Given the description of an element on the screen output the (x, y) to click on. 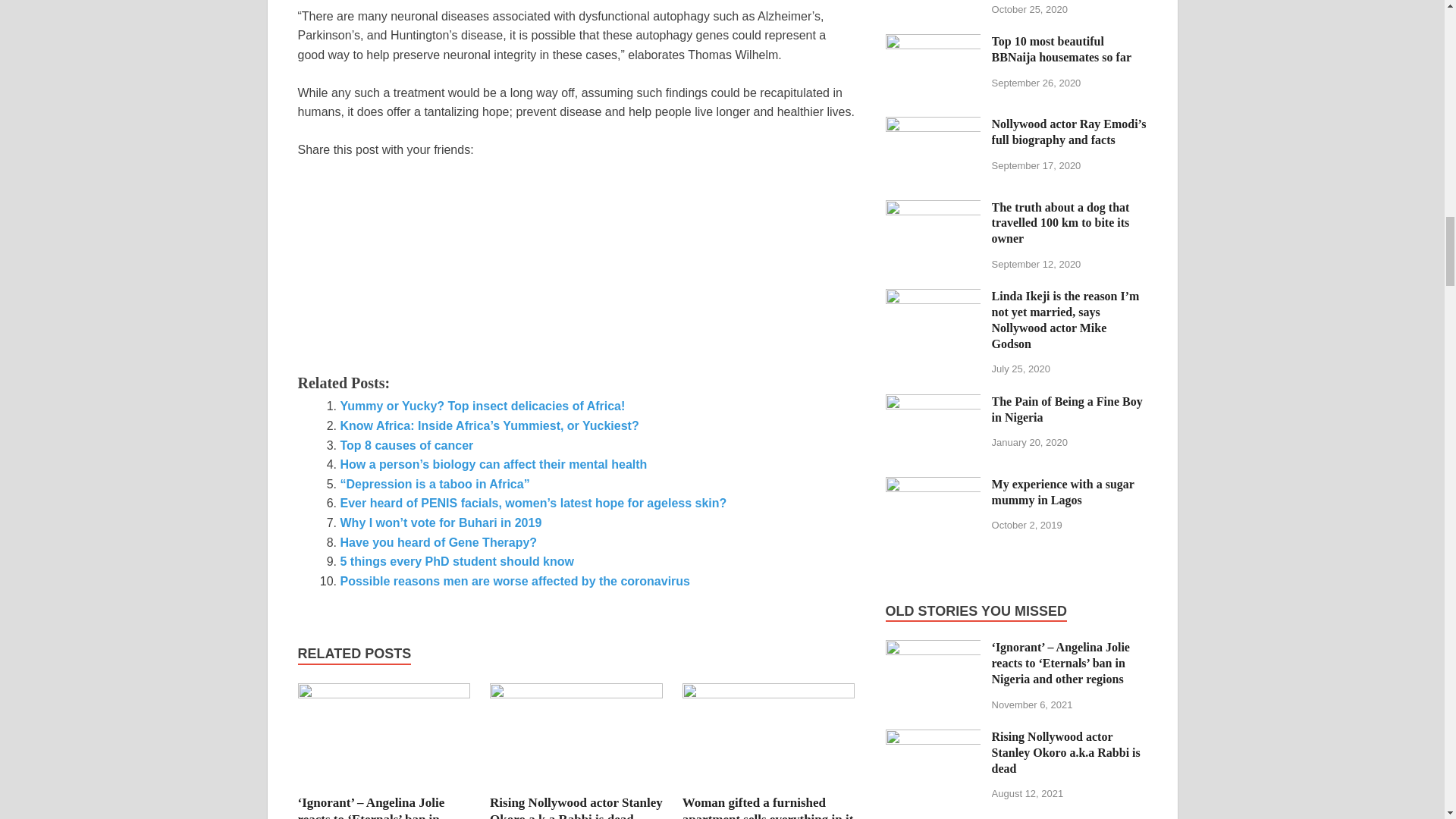
5 things every PhD student should know (456, 561)
Possible reasons men are worse affected by the coronavirus (514, 581)
Have you heard of Gene Therapy? (438, 542)
Yummy or Yucky? Top insect delicacies of Africa! (481, 405)
Top 8 causes of cancer (406, 445)
